Given the description of an element on the screen output the (x, y) to click on. 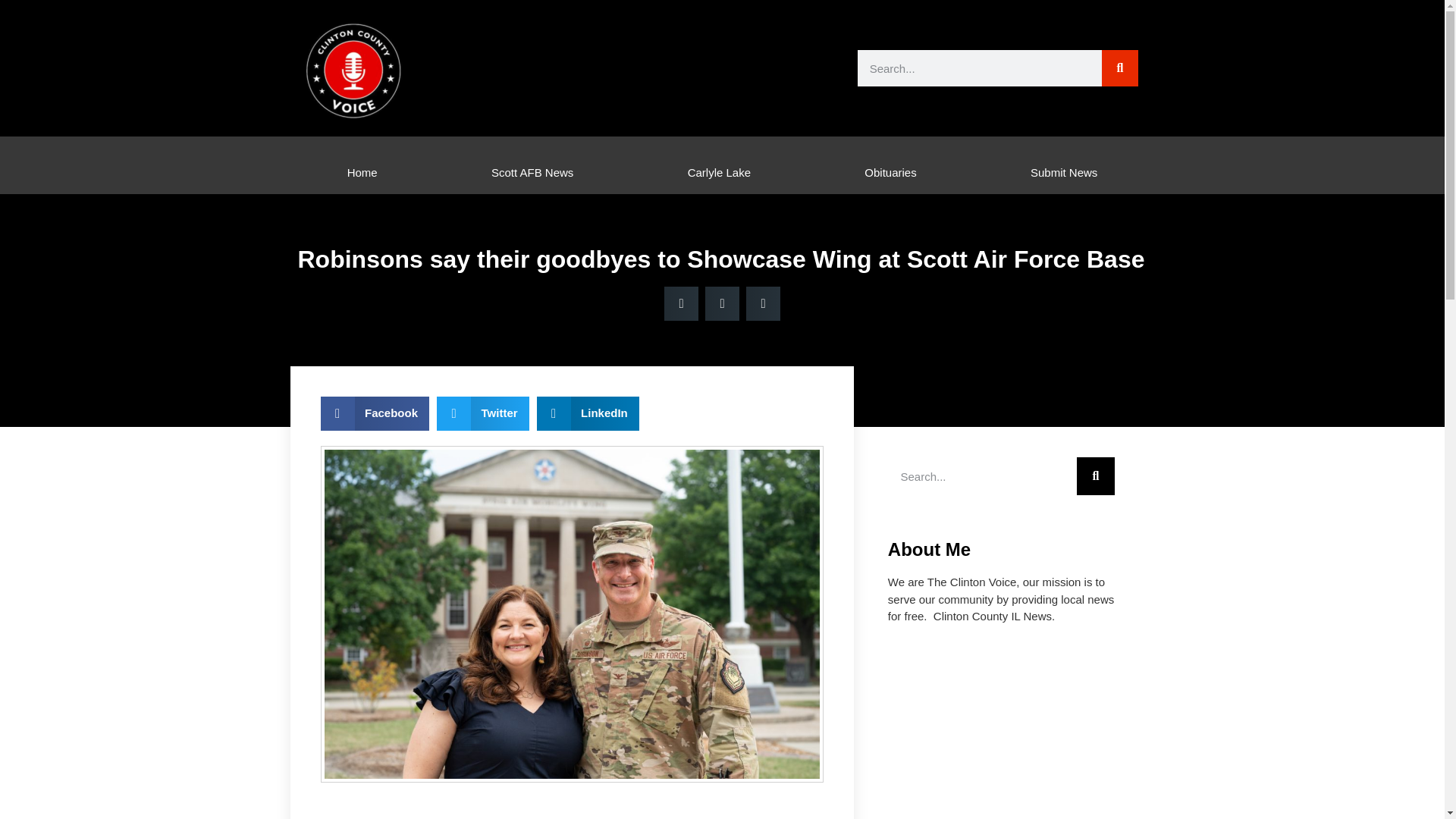
Home (361, 172)
Scott AFB News (531, 172)
Submit News (1064, 172)
Obituaries (891, 172)
Carlyle Lake (719, 172)
